Given the description of an element on the screen output the (x, y) to click on. 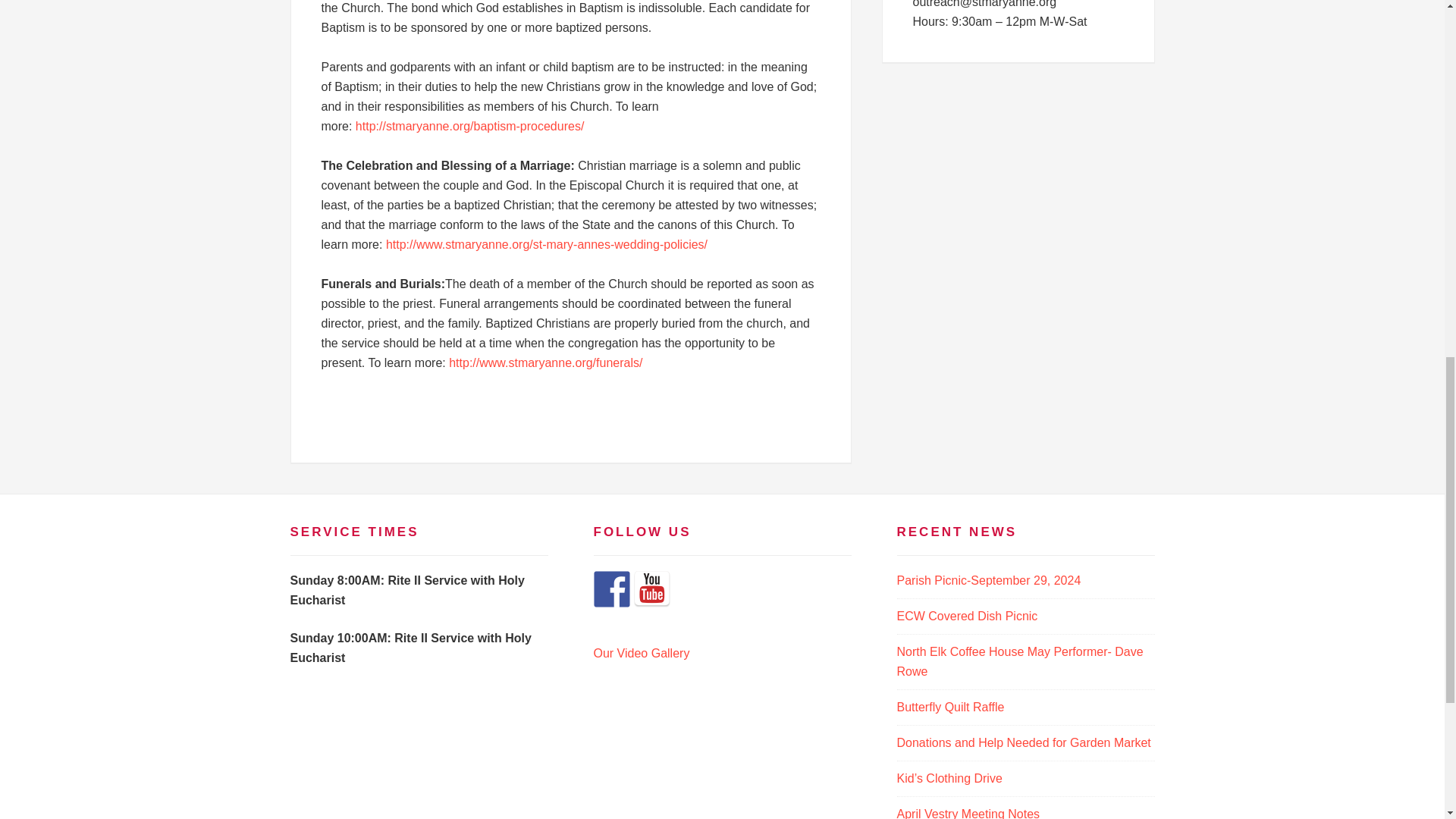
Find us on YouTube (651, 588)
Follow us on Facebook (610, 588)
